Given the description of an element on the screen output the (x, y) to click on. 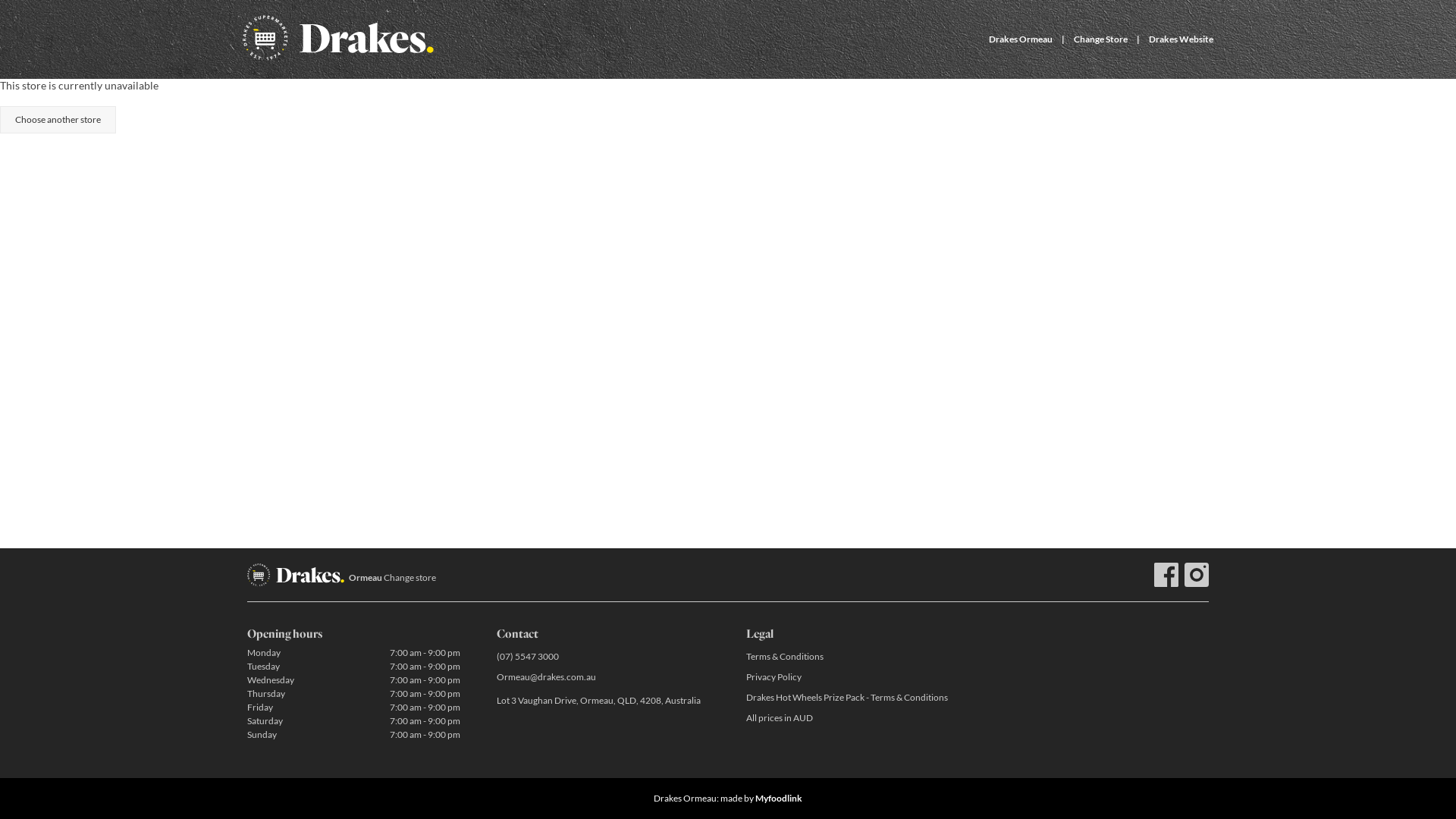
Drakes Hot Wheels Prize Pack - Terms & Conditions Element type: text (852, 697)
Privacy Policy Element type: text (852, 676)
Facebook Element type: hover (1166, 574)
Drakes Website Element type: text (1180, 38)
Terms & Conditions Element type: text (852, 656)
Change Store Element type: text (1100, 38)
(07) 5547 3000 Element type: text (602, 656)
Choose another store Element type: text (58, 119)
Ormeau Change store Element type: text (392, 577)
Instagram drakessupermarkets Element type: hover (1196, 574)
Lot 3 Vaughan Drive, Ormeau, QLD, 4208, Australia Element type: text (602, 700)
Myfoodlink Element type: text (778, 797)
Ormeau@drakes.com.au Element type: text (602, 676)
